Given the description of an element on the screen output the (x, y) to click on. 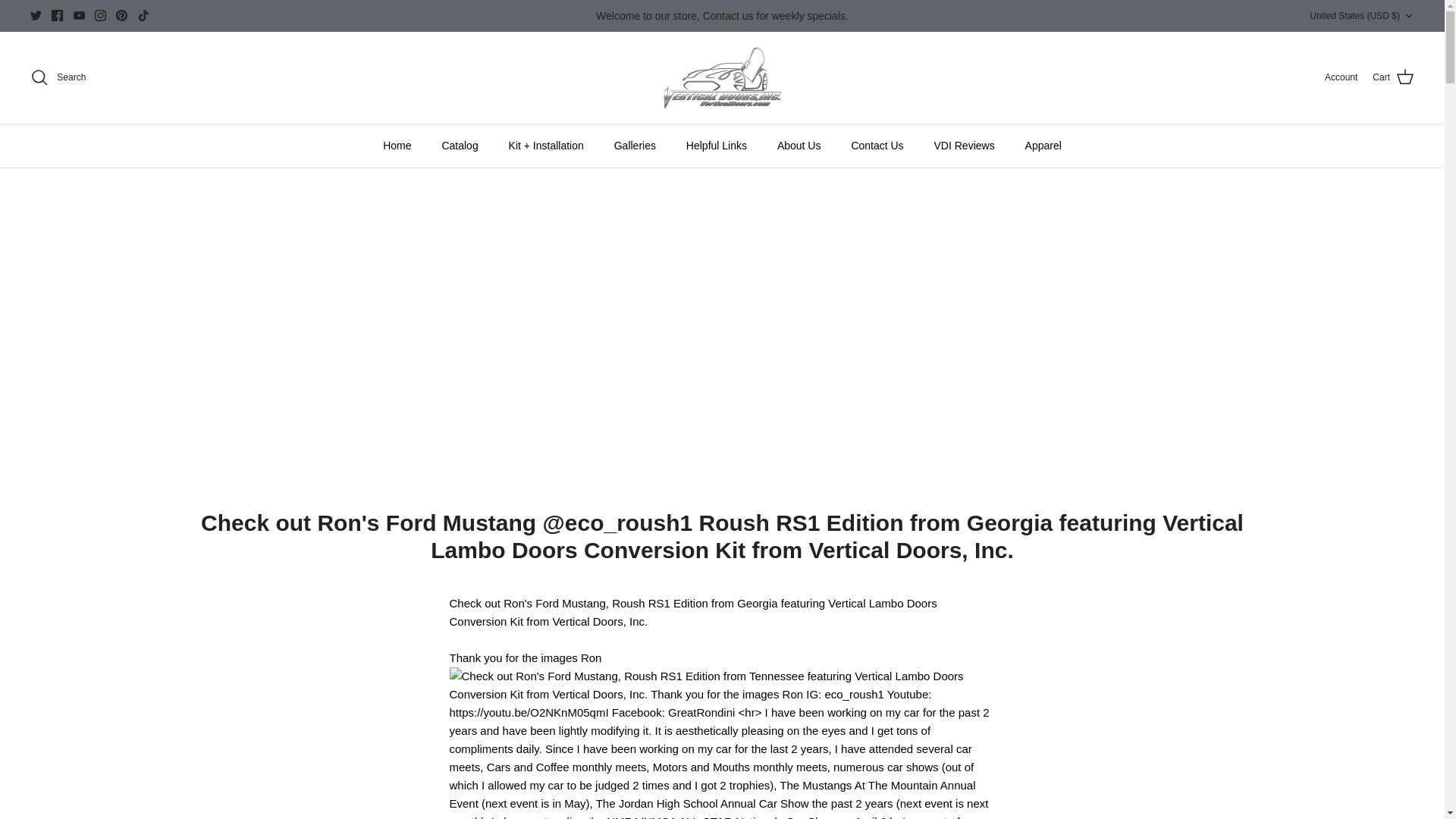
Pinterest (122, 15)
Facebook (56, 15)
Twitter (36, 15)
Twitter (36, 15)
Instagram (100, 15)
Youtube (79, 15)
Youtube (79, 15)
Pinterest (122, 15)
Facebook (56, 15)
Down (1408, 15)
Vertical Doors, Inc. (721, 77)
Instagram (100, 15)
